Given the description of an element on the screen output the (x, y) to click on. 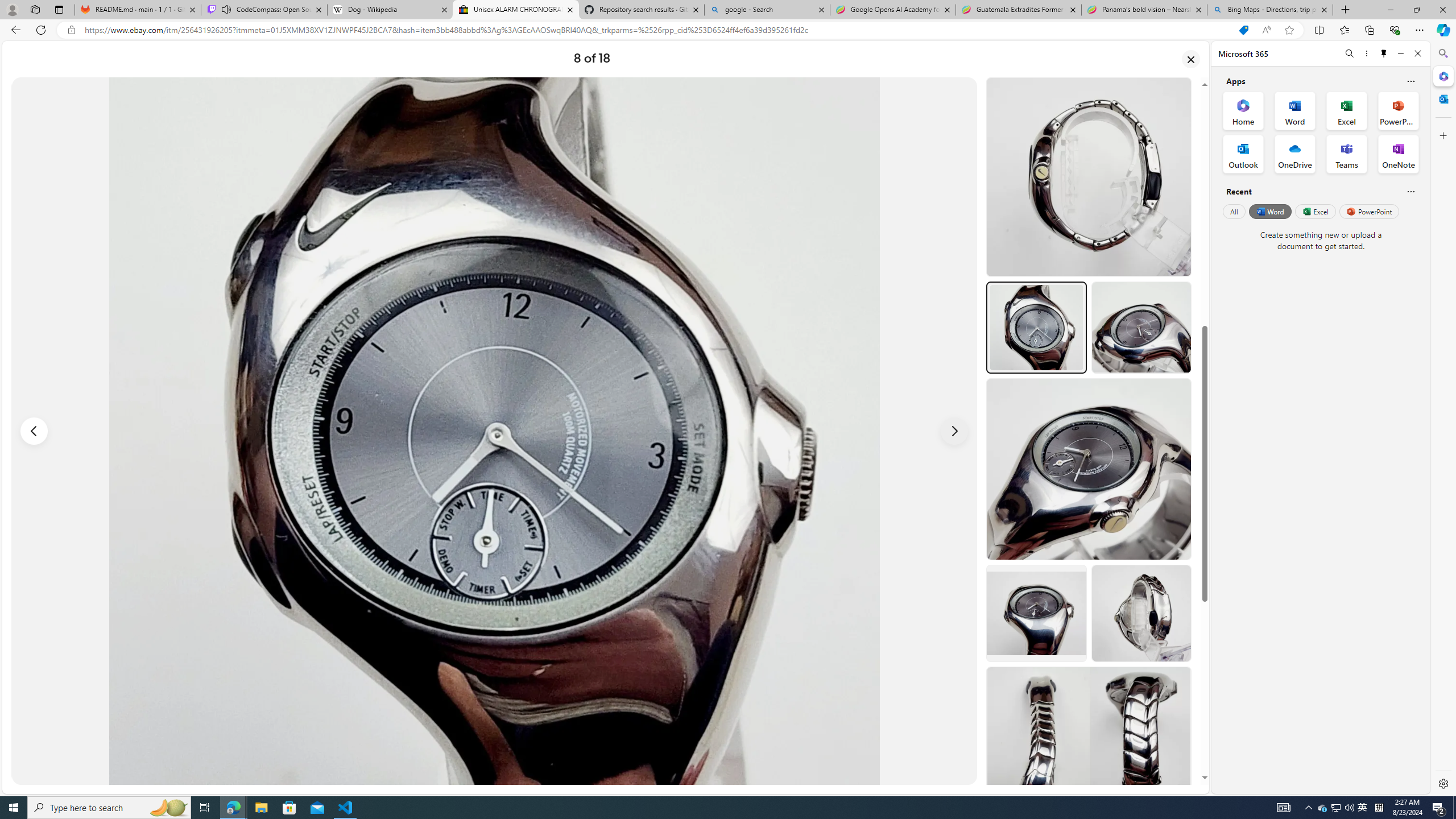
Word Office App (1295, 110)
Word (1269, 210)
Teams Office App (1346, 154)
Next image - Item images thumbnails (954, 430)
Home Office App (1243, 110)
